Given the description of an element on the screen output the (x, y) to click on. 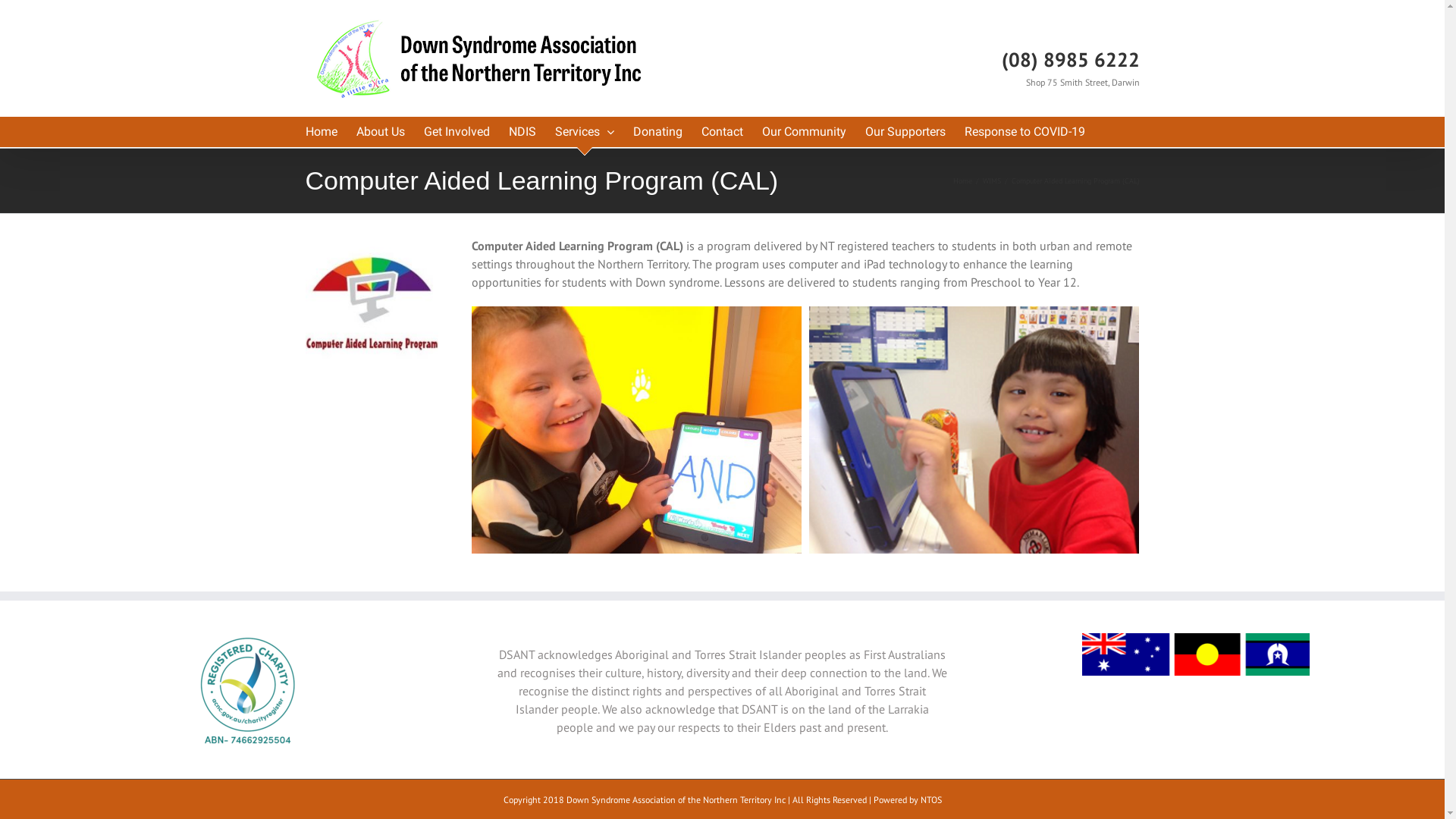
cal urban page 1 Element type: hover (636, 429)
NDIS Element type: text (521, 131)
Our Community Element type: text (803, 131)
About Us Element type: text (380, 131)
WIMS Element type: text (991, 180)
judy Element type: hover (974, 429)
Response to COVID-19 Element type: text (1024, 131)
Our Supporters Element type: text (904, 131)
Get Involved Element type: text (456, 131)
Donating Element type: text (656, 131)
Services Element type: text (584, 131)
Contact Element type: text (721, 131)
Home Element type: text (320, 131)
Home Element type: text (961, 180)
CALlogo Element type: hover (371, 303)
(08) 8985 6222 Element type: text (1070, 59)
NTOS Element type: text (930, 799)
